Given the description of an element on the screen output the (x, y) to click on. 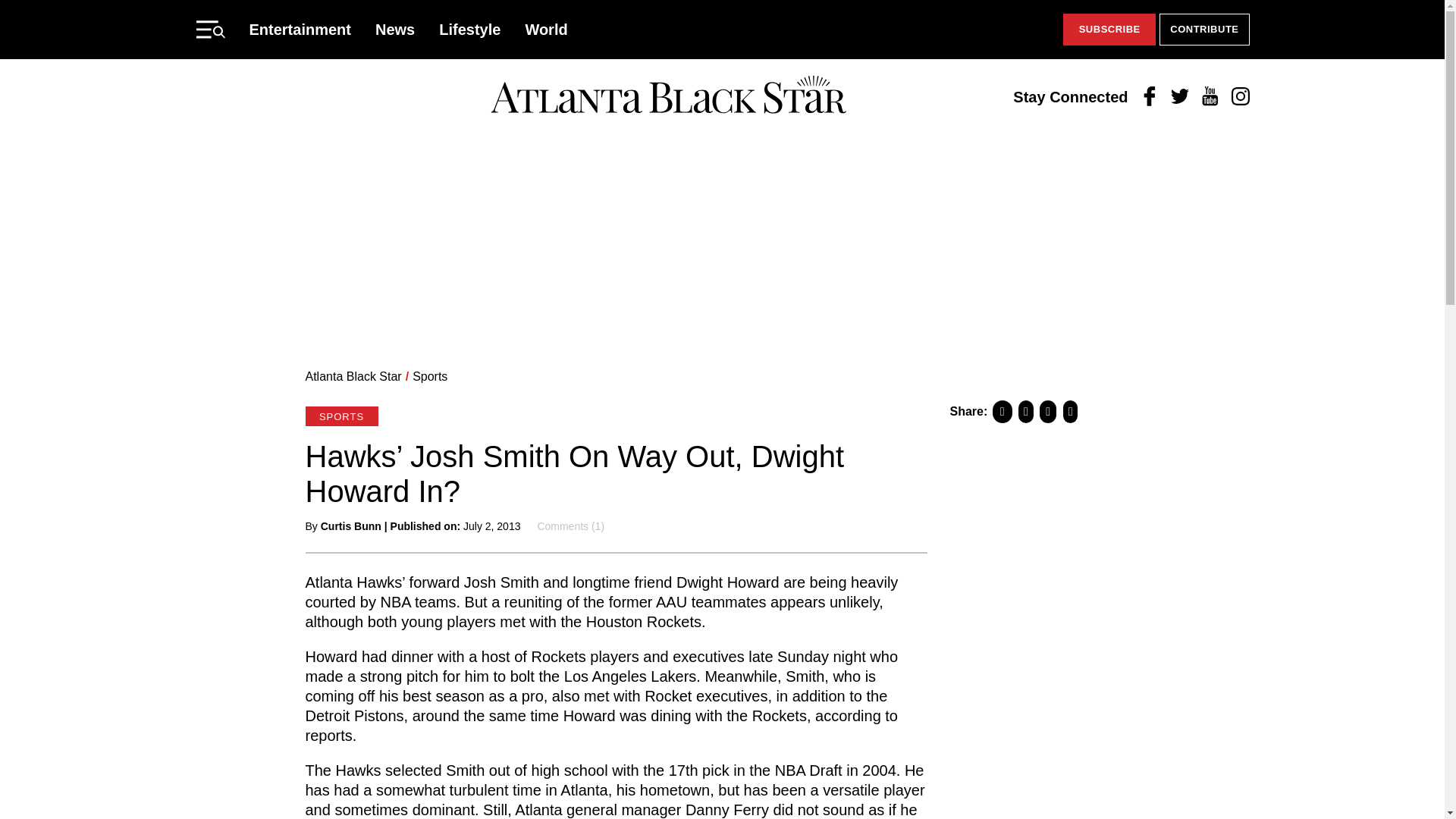
Curtis Bunn (350, 526)
Go to Atlanta Black Star. (352, 376)
Sports (429, 376)
Lifestyle (469, 29)
CONTRIBUTE (1203, 29)
News (394, 29)
Go to the Sports Category archives. (429, 376)
Entertainment (299, 29)
SUBSCRIBE (1109, 29)
World (545, 29)
